Given the description of an element on the screen output the (x, y) to click on. 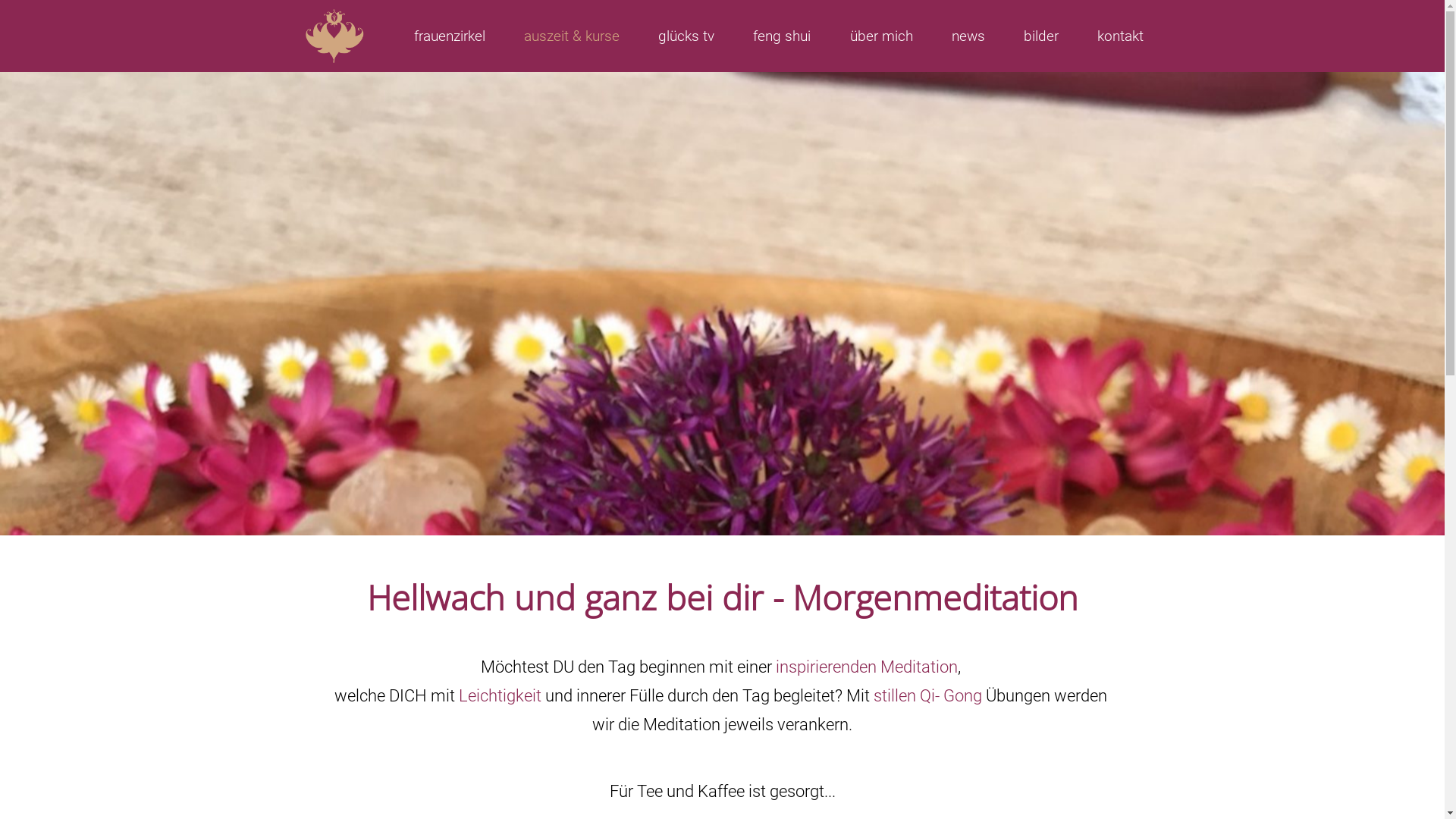
bilder Element type: text (1040, 35)
feng shui Element type: text (782, 35)
news Element type: text (967, 35)
auszeit & kurse Element type: text (571, 35)
kontakt Element type: text (1120, 35)
frauenzirkel Element type: text (449, 35)
